Given the description of an element on the screen output the (x, y) to click on. 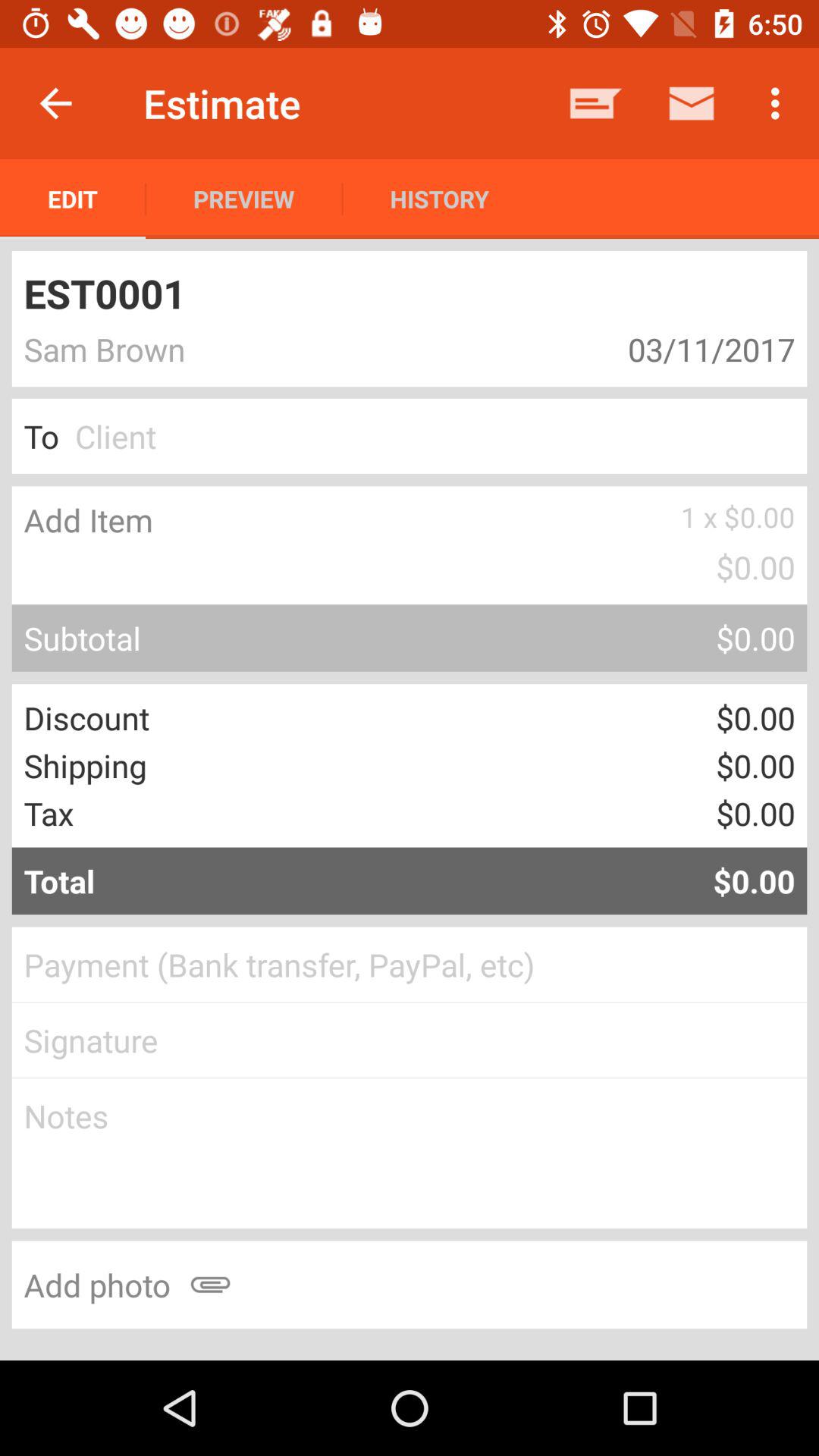
select app to the left of preview (72, 198)
